Given the description of an element on the screen output the (x, y) to click on. 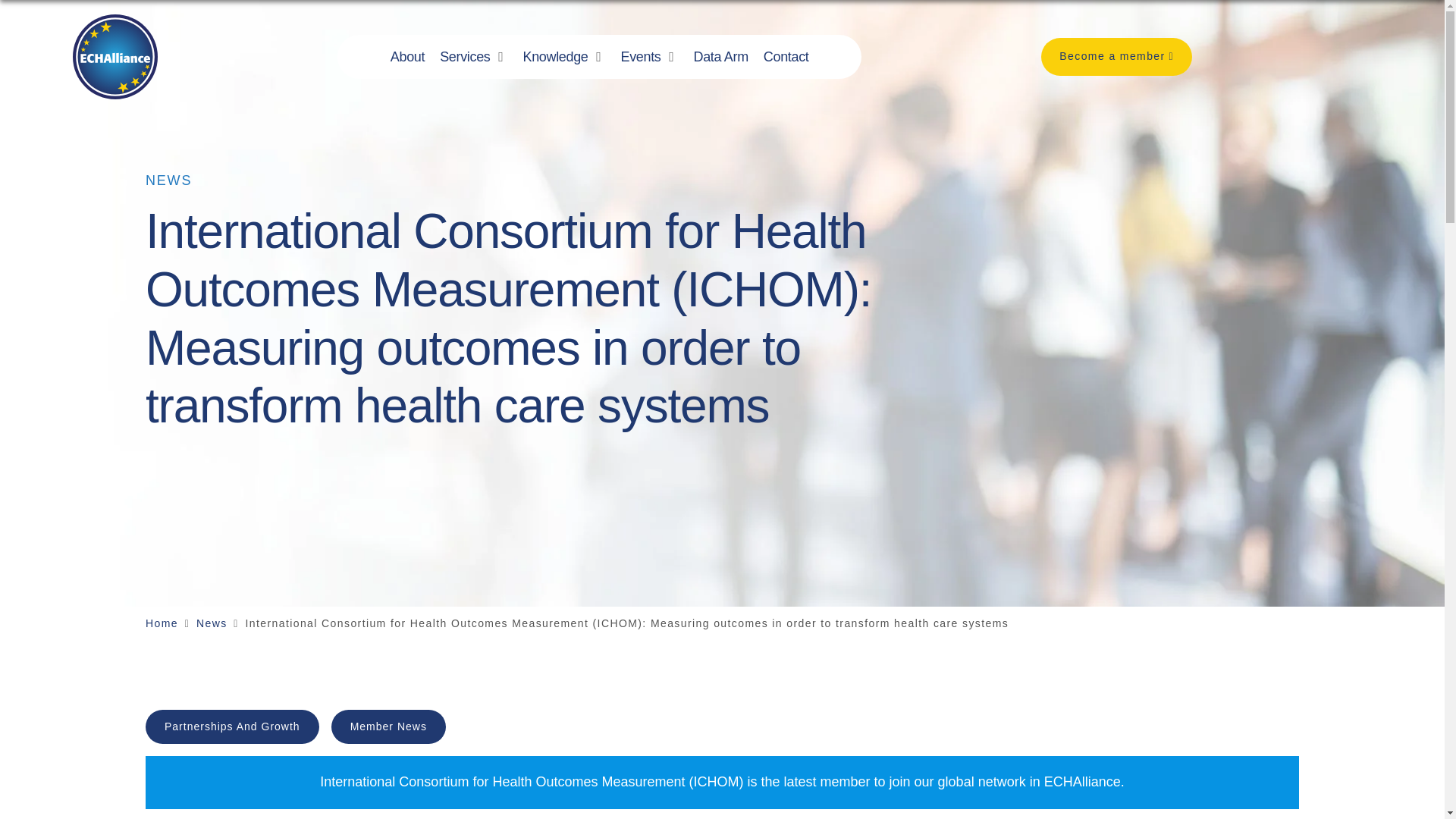
About (407, 56)
Services (464, 56)
Events (641, 56)
Knowledge (555, 56)
Home (161, 623)
News (211, 623)
